Given the description of an element on the screen output the (x, y) to click on. 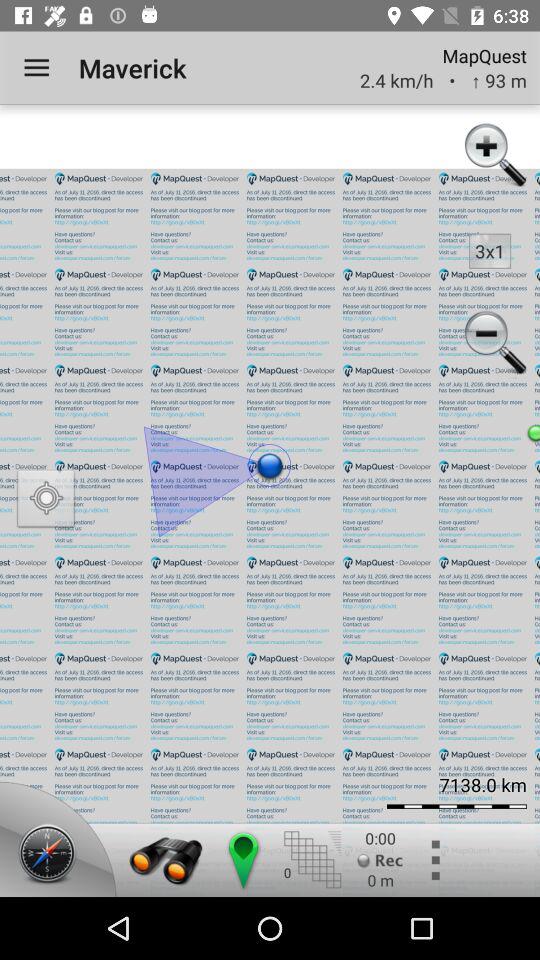
choose the 2x1 icon (490, 250)
